Given the description of an element on the screen output the (x, y) to click on. 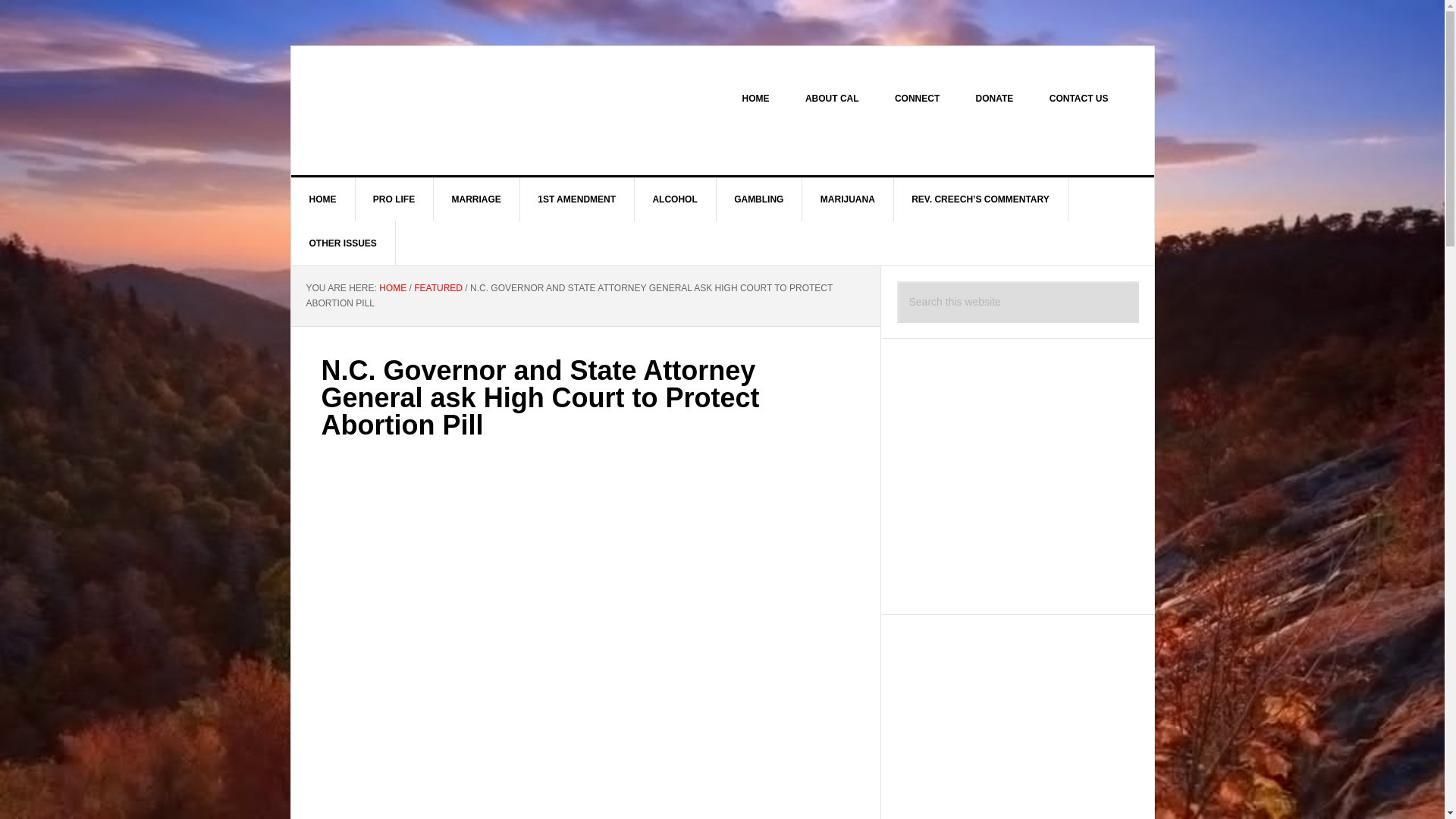
HOME (323, 199)
MARIJUANA (847, 199)
CHRISTIAN ACTION LEAGUE (419, 110)
CONNECT (917, 98)
HOME (392, 287)
MARRIAGE (476, 199)
1ST AMENDMENT (576, 199)
GAMBLING (759, 199)
DONATE (995, 98)
